Given the description of an element on the screen output the (x, y) to click on. 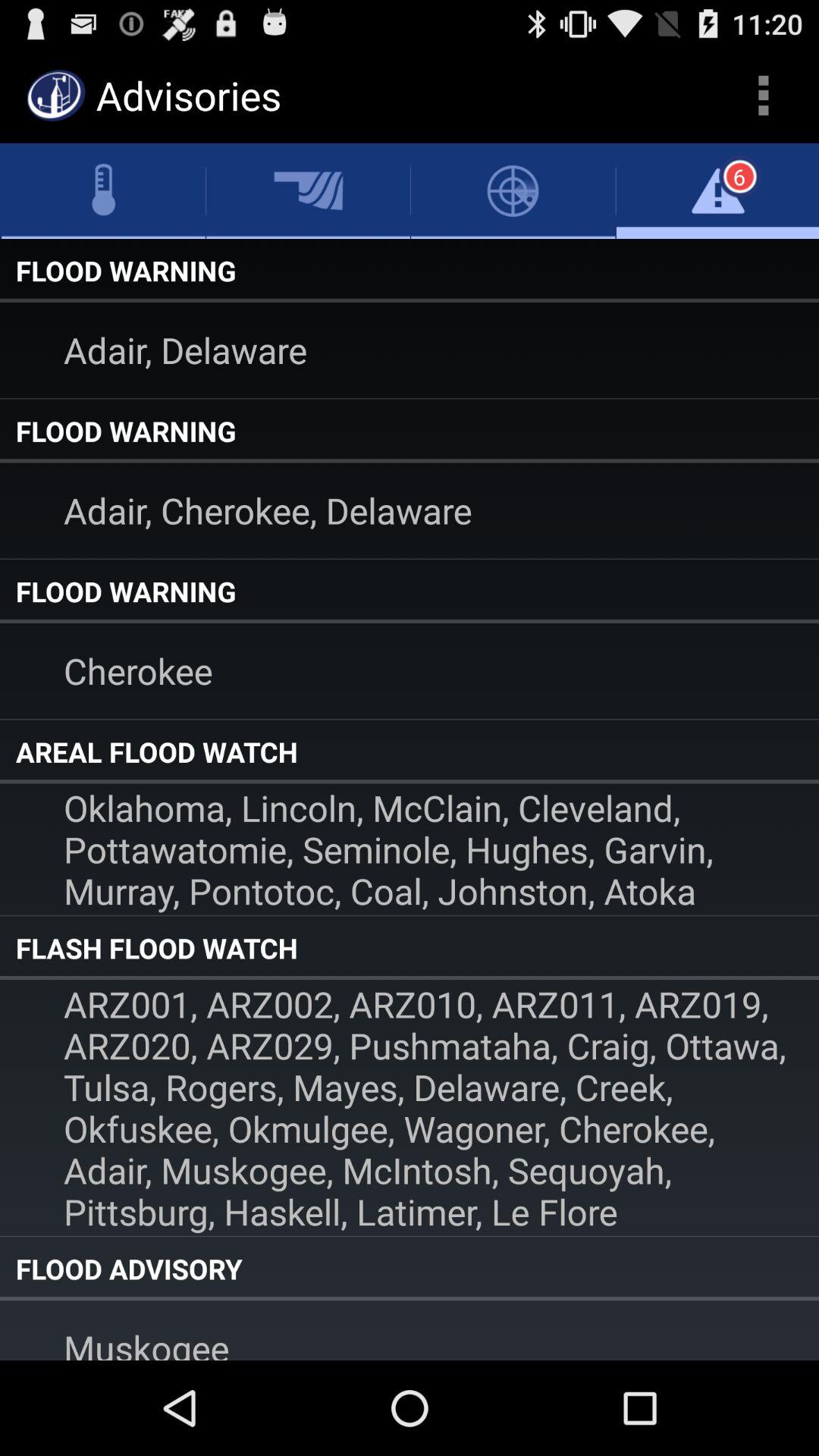
press item above oklahoma lincoln mcclain (409, 751)
